Given the description of an element on the screen output the (x, y) to click on. 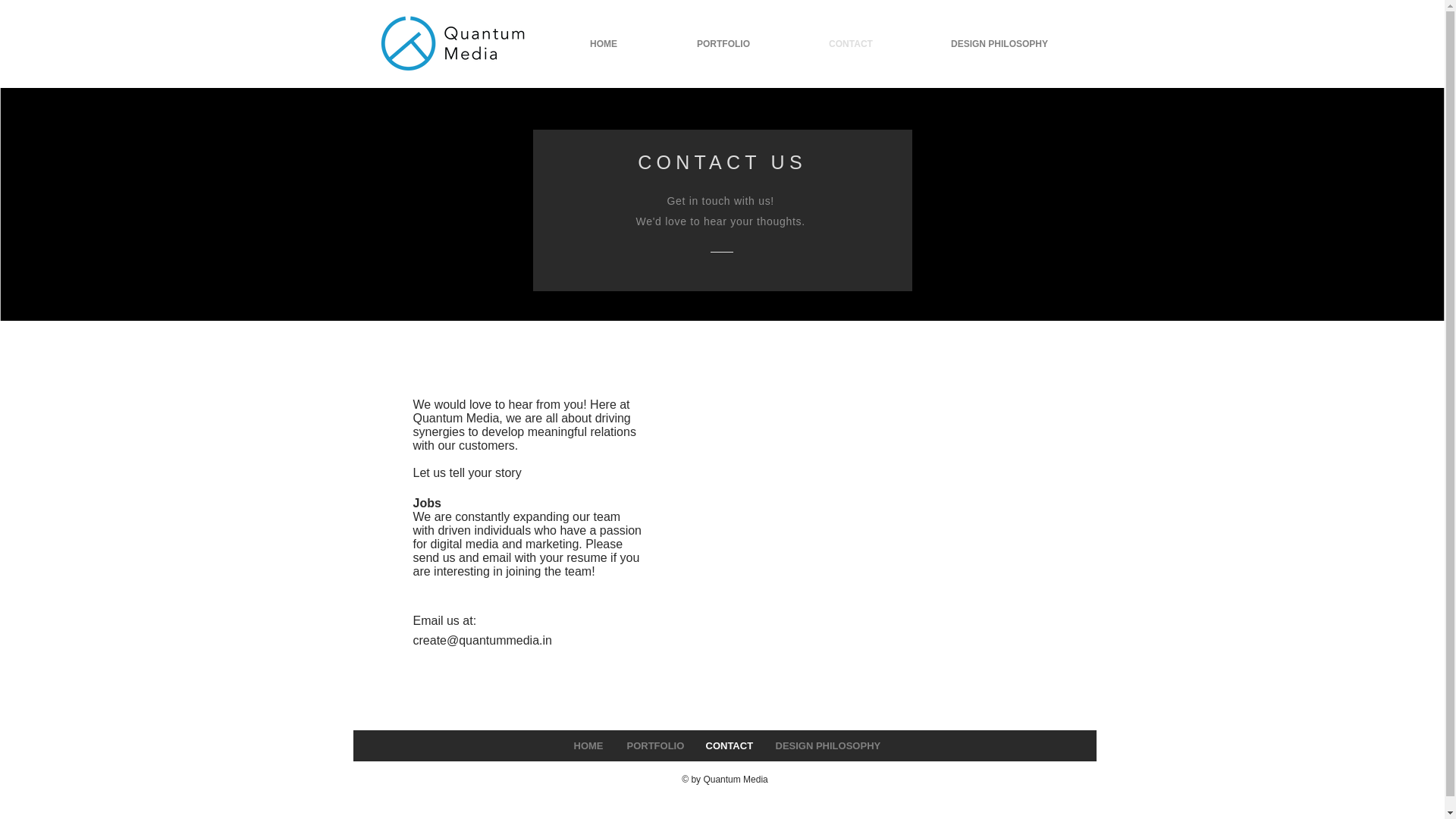
CONTACT (851, 44)
HOME (604, 44)
PORTFOLIO (722, 44)
DESIGN PHILOSOPHY (824, 745)
DESIGN PHILOSOPHY (998, 44)
PORTFOLIO (653, 745)
HOME (587, 745)
CONTACT (727, 745)
